Given the description of an element on the screen output the (x, y) to click on. 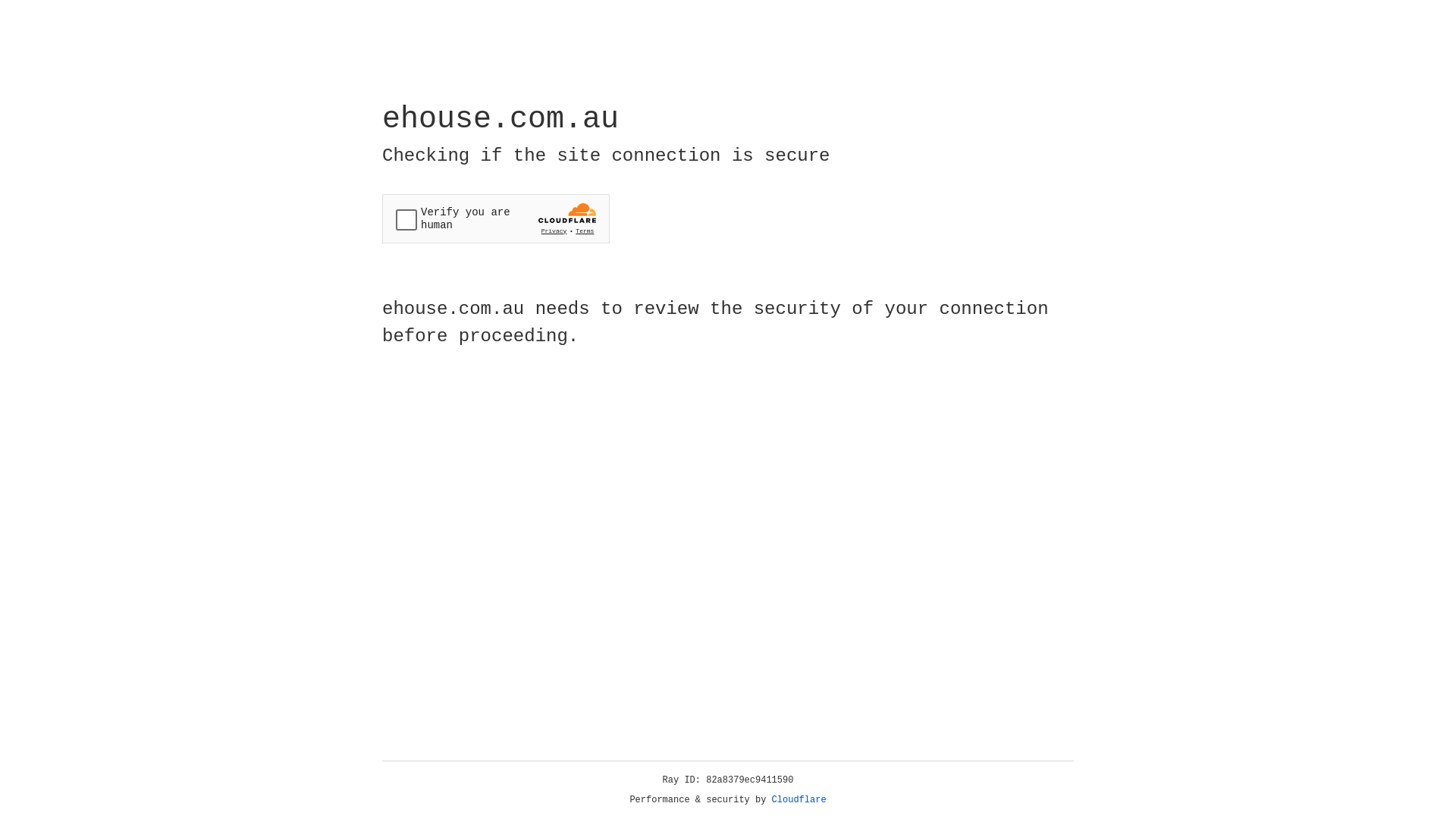
Cloudflare Element type: text (798, 799)
Widget containing a Cloudflare security challenge Element type: hover (495, 218)
